Given the description of an element on the screen output the (x, y) to click on. 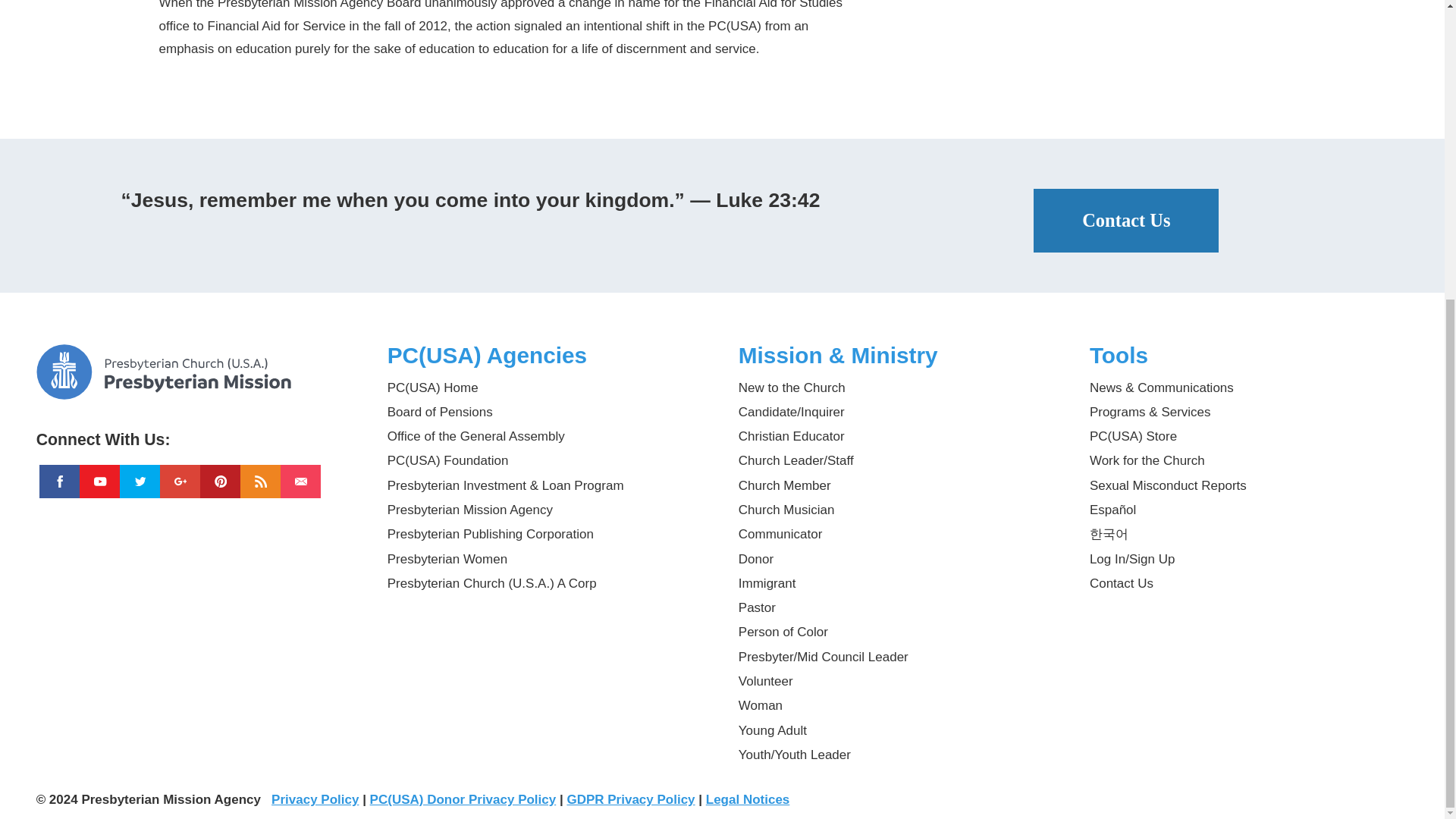
Follow Us on Social Media (195, 433)
